Given the description of an element on the screen output the (x, y) to click on. 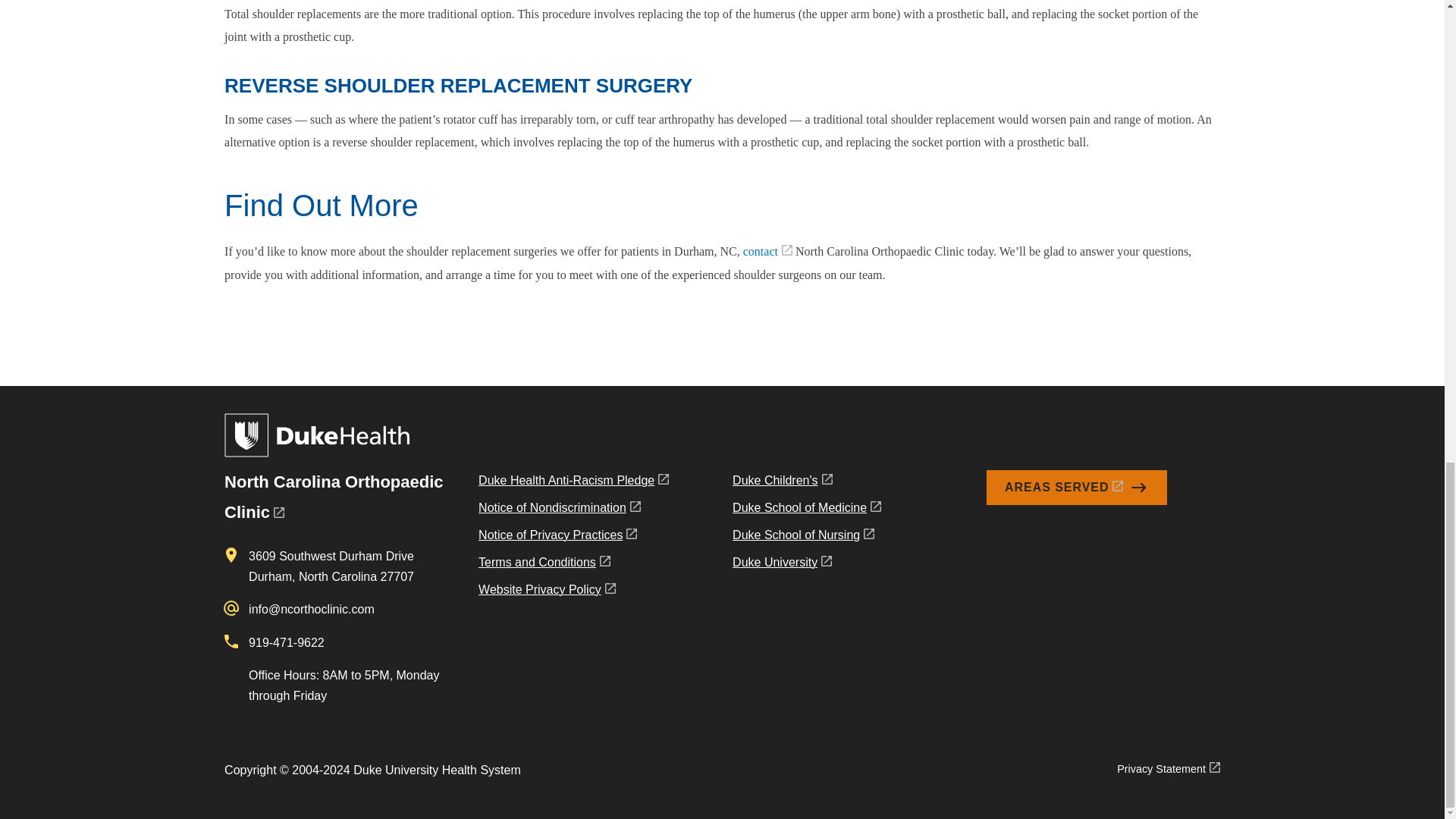
Duke School of Nursing (806, 538)
Notice of Nondiscrimination (573, 510)
Notice of Privacy Practices (573, 538)
Duke Children's (806, 483)
Terms and Conditions (573, 565)
contact (767, 250)
AREAS SERVED (1077, 487)
Website Privacy Policy (573, 592)
Duke University (806, 565)
Duke School of Medicine (806, 510)
